Given the description of an element on the screen output the (x, y) to click on. 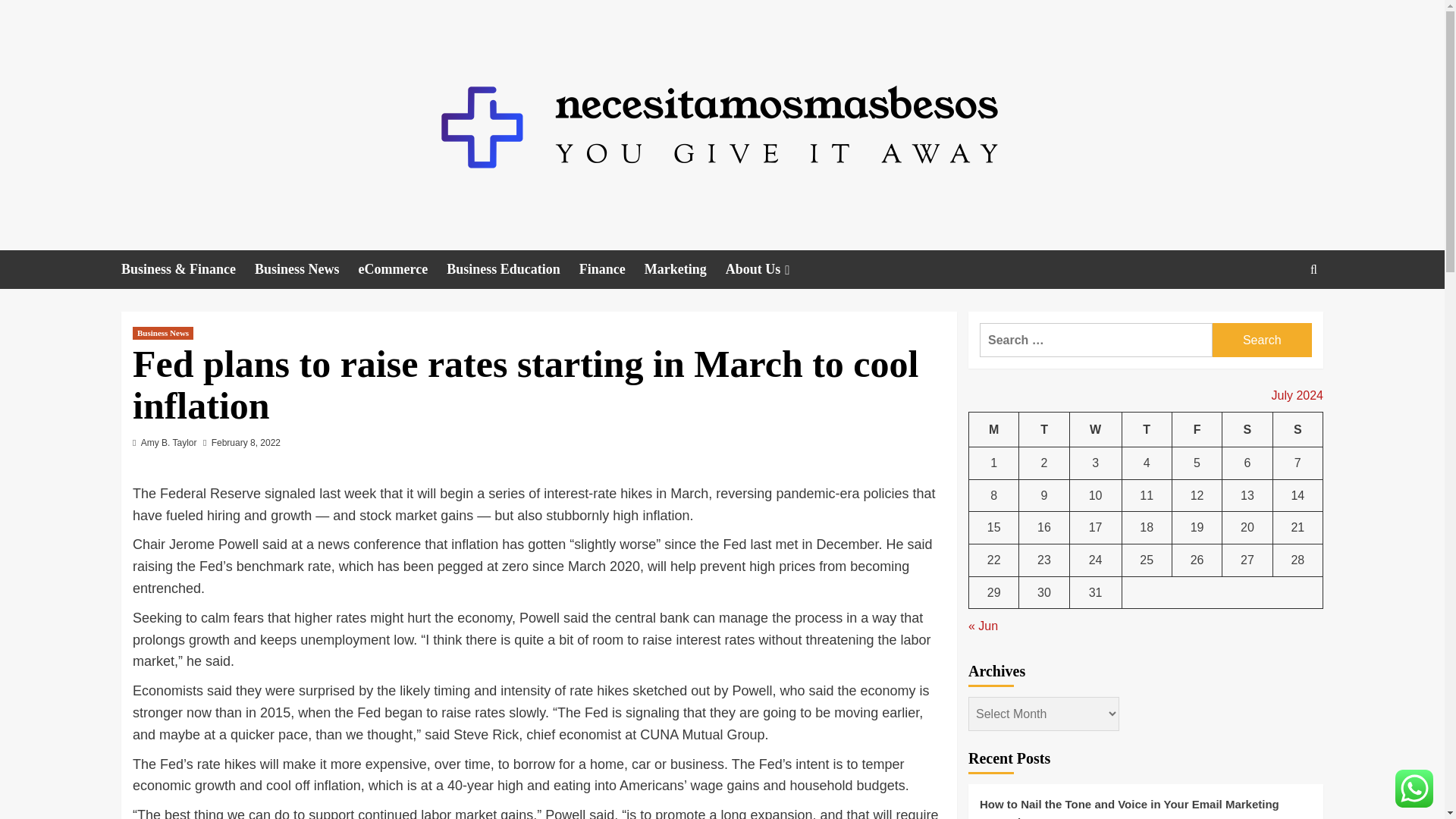
Business News (306, 269)
About Us (769, 269)
Saturday (1247, 429)
Tuesday (1043, 429)
Search (1261, 339)
Sunday (1297, 429)
Wednesday (1094, 429)
Finance (612, 269)
Search (1261, 339)
eCommerce (402, 269)
February 8, 2022 (246, 442)
Friday (1196, 429)
Search (1278, 315)
Thursday (1146, 429)
Amy B. Taylor (168, 442)
